Given the description of an element on the screen output the (x, y) to click on. 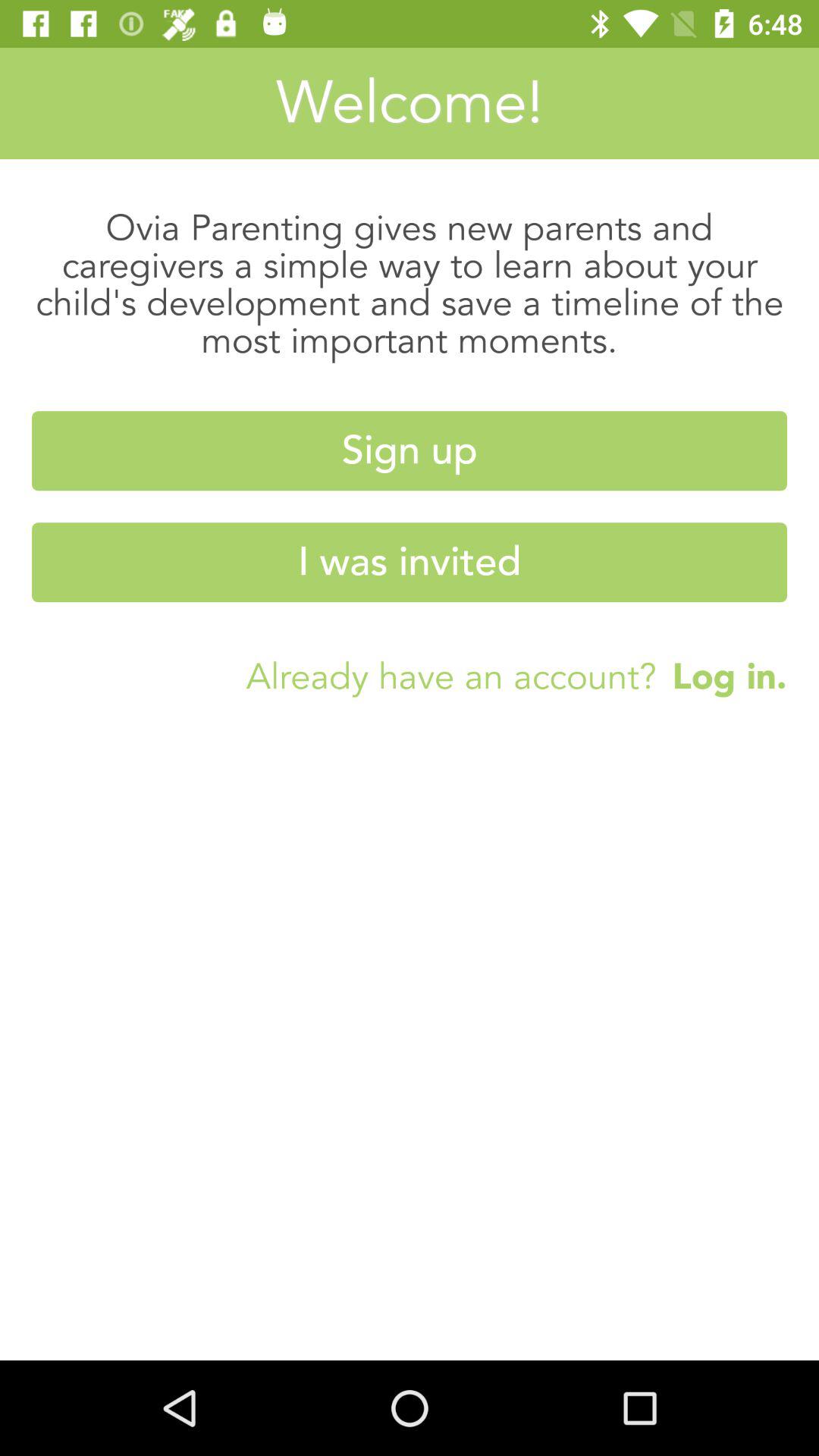
flip to welcome! item (409, 103)
